Given the description of an element on the screen output the (x, y) to click on. 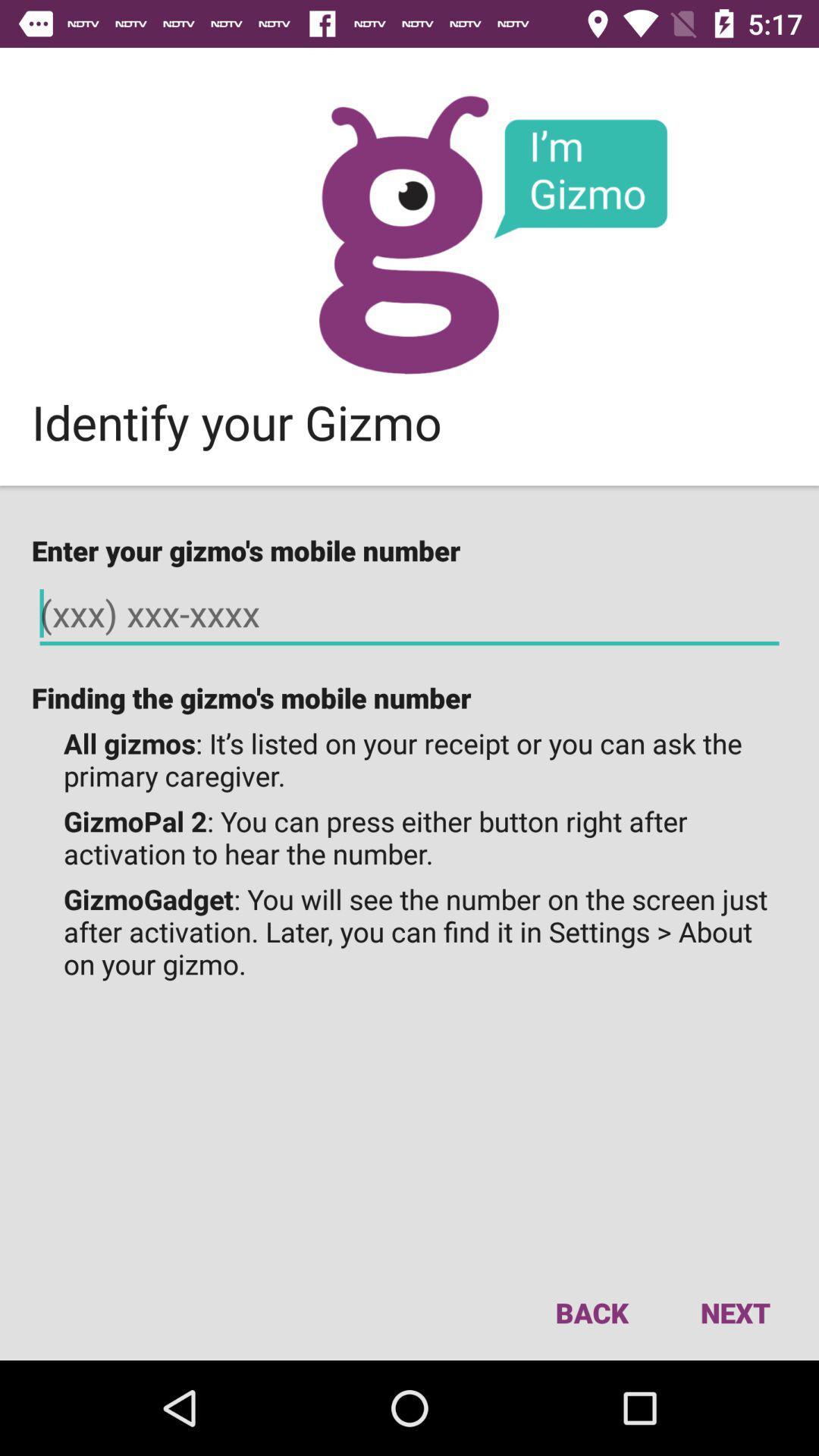
enter phone number (409, 614)
